Given the description of an element on the screen output the (x, y) to click on. 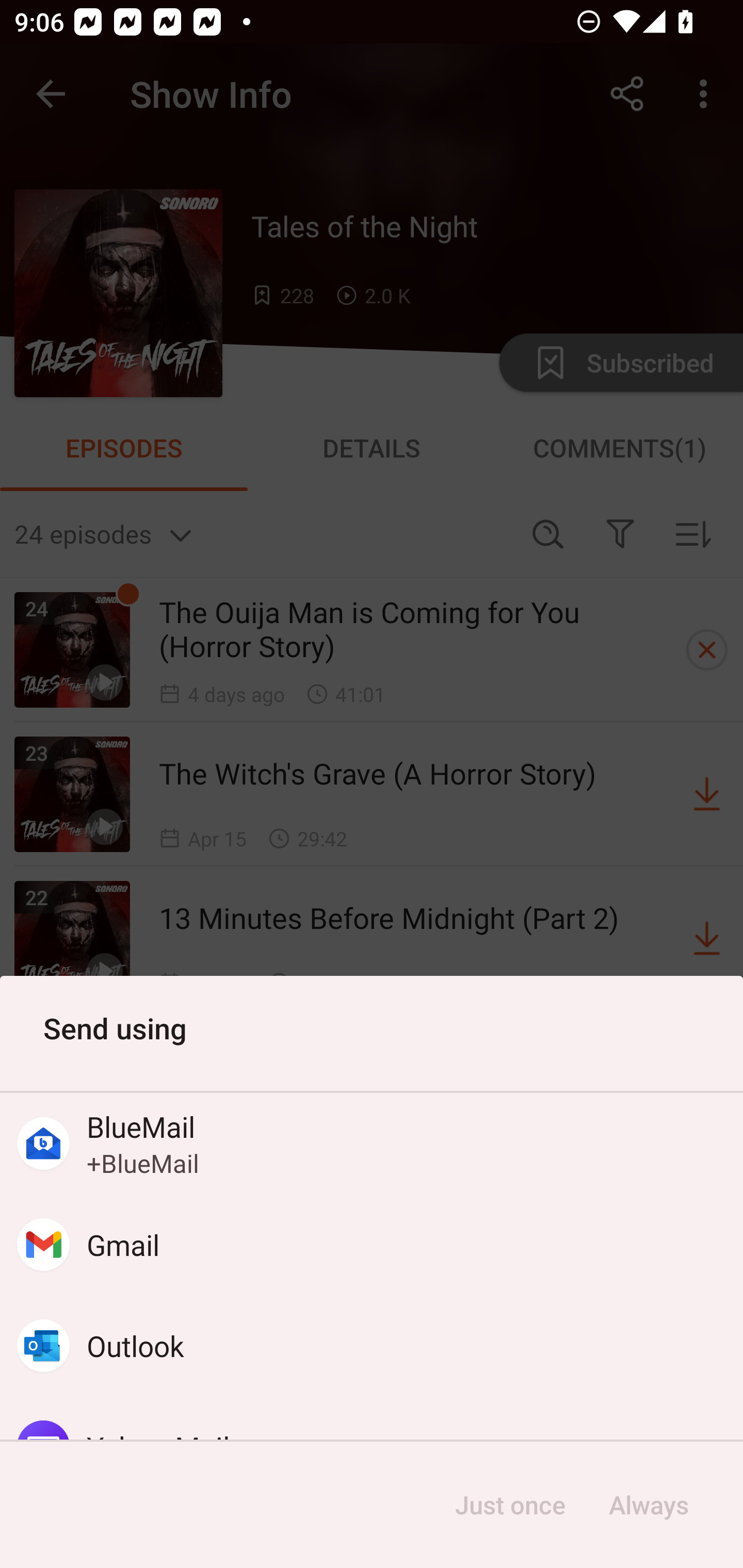
BlueMail +BlueMail (371, 1143)
Gmail (371, 1244)
Outlook (371, 1345)
Just once (509, 1504)
Always (648, 1504)
